Given the description of an element on the screen output the (x, y) to click on. 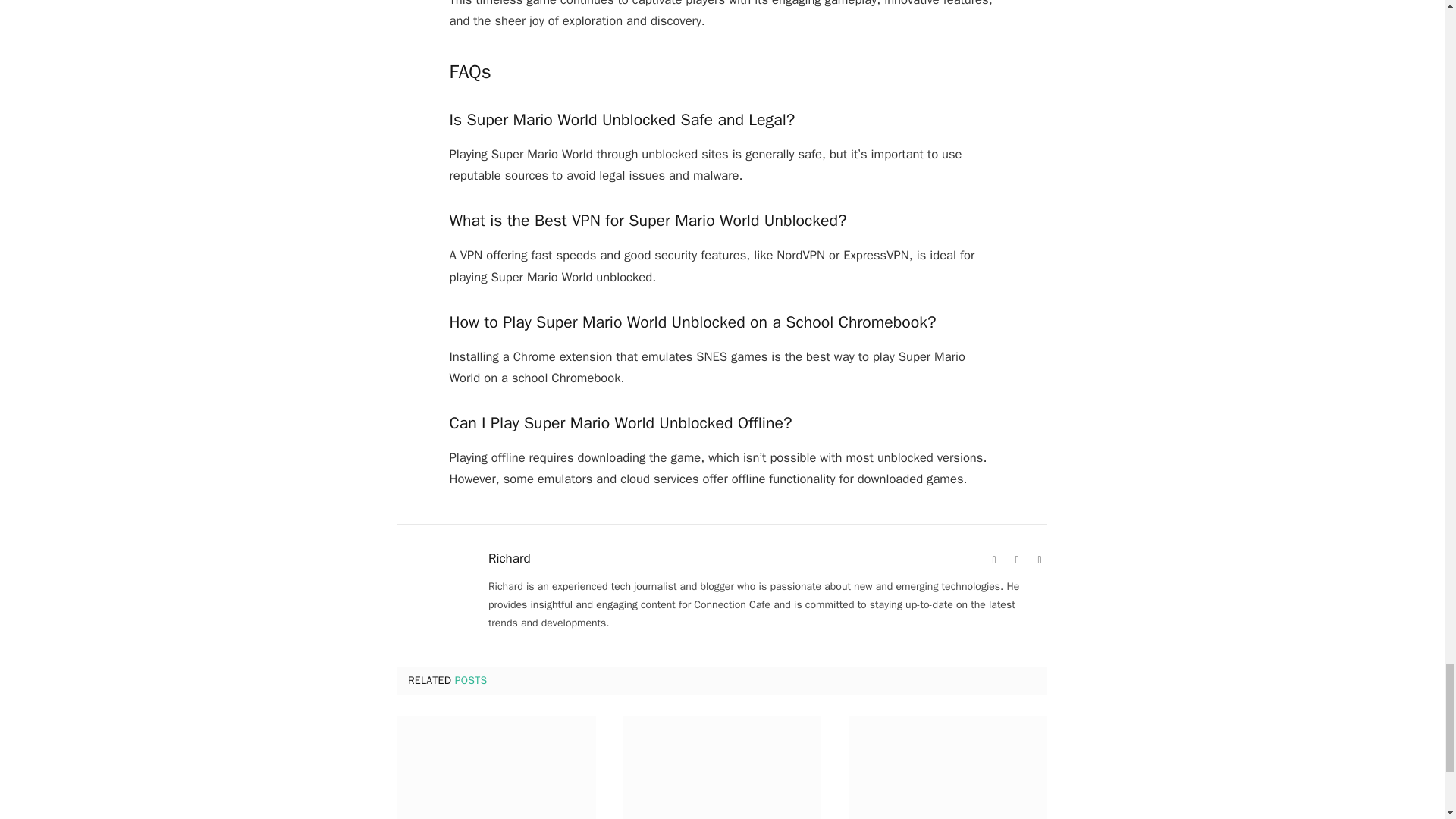
Posts by Richard (509, 558)
Twitter (1039, 560)
Facebook (1017, 560)
Stickman Hook Unblocked Explained: Free Games In 2024 (722, 767)
Doom Unblocked Explained: Free Games In 2024 (947, 767)
Website (994, 560)
Cookie Clicker 2 Unblocked: Free Online Games For PC In 2024 (496, 767)
